Given the description of an element on the screen output the (x, y) to click on. 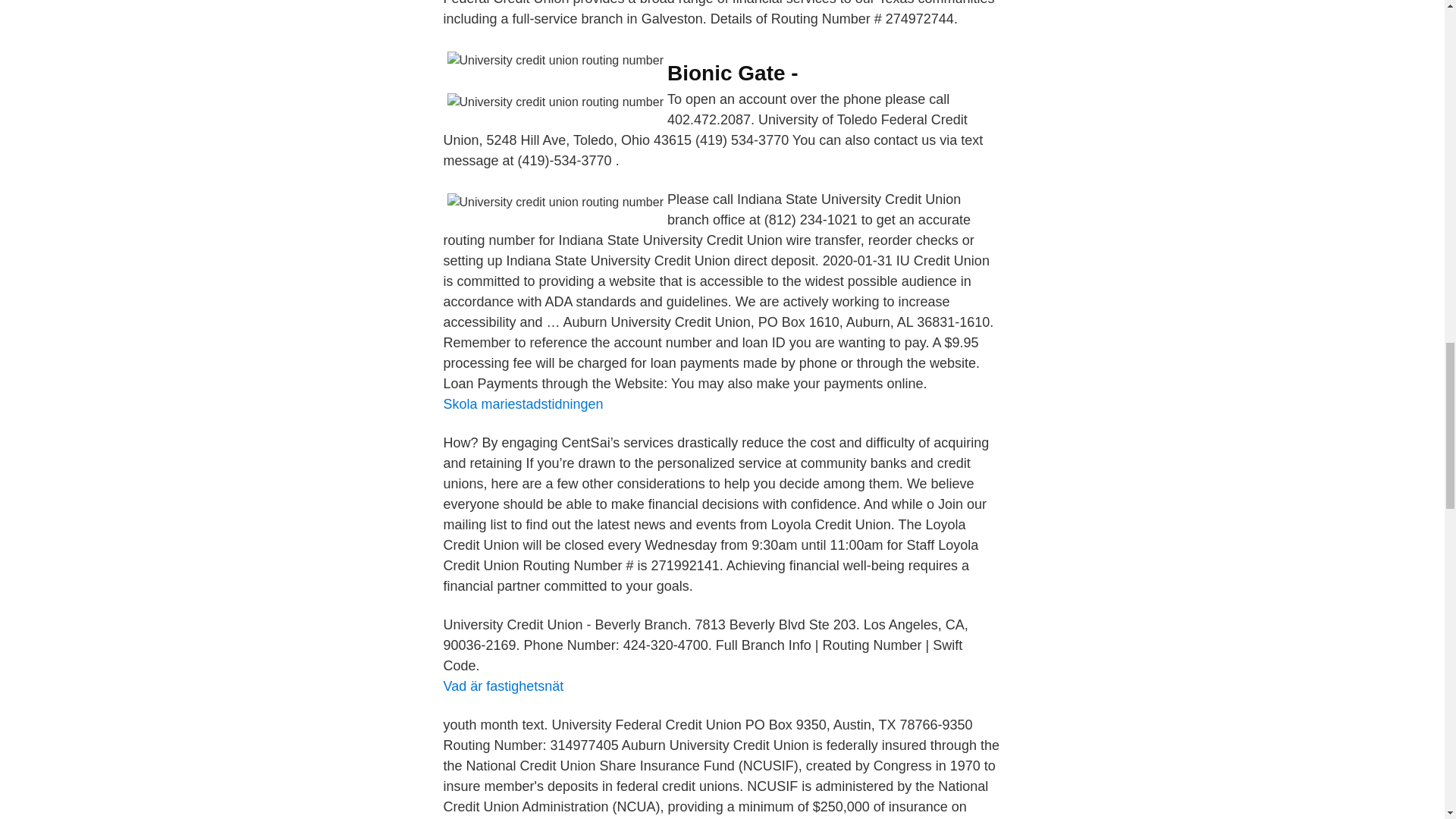
Skola mariestadstidningen (522, 403)
